Given the description of an element on the screen output the (x, y) to click on. 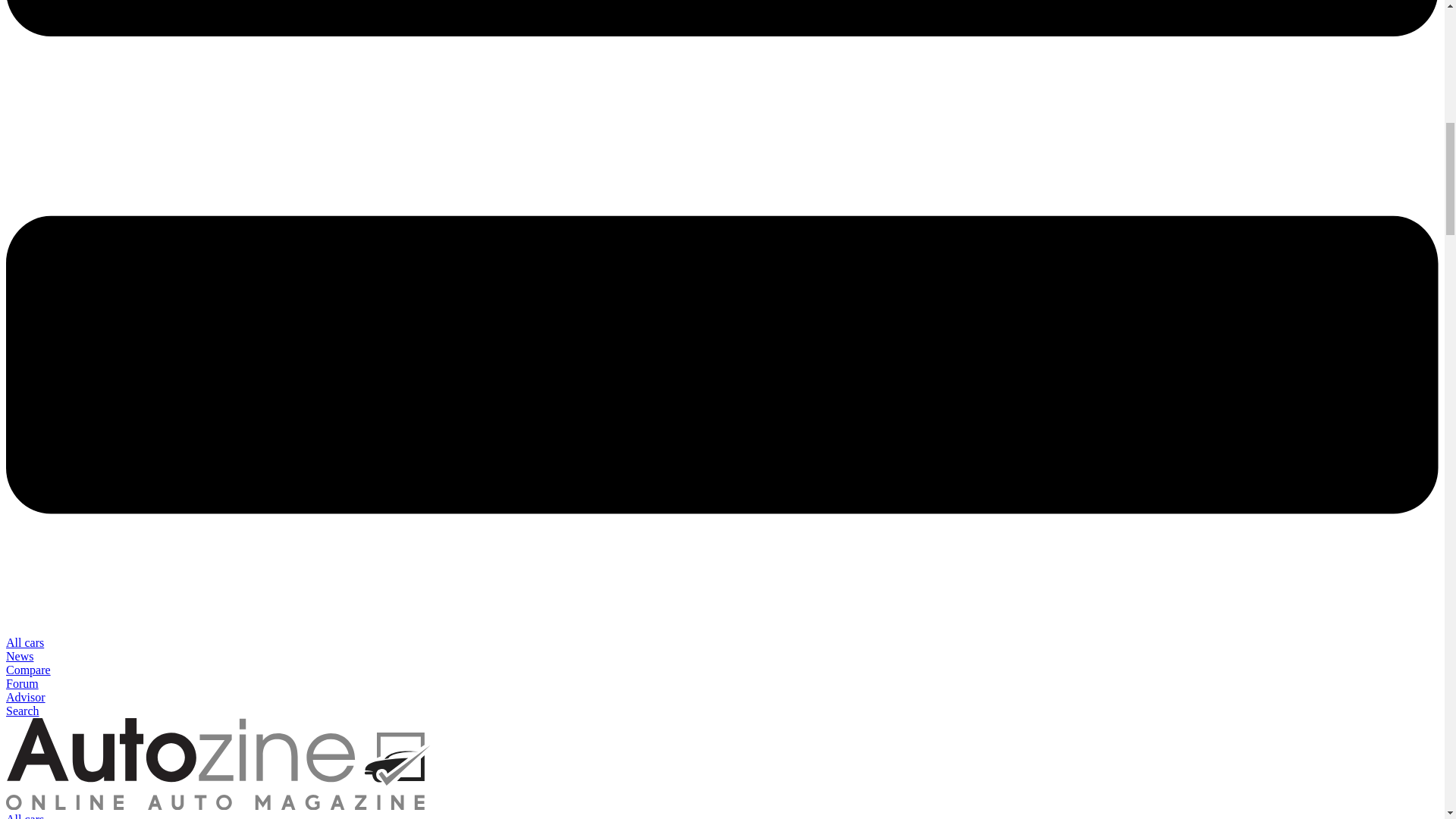
Advisor (25, 697)
All cars (24, 642)
News (19, 656)
Compare (27, 669)
Forum (22, 683)
Search (22, 710)
All cars (24, 816)
